Given the description of an element on the screen output the (x, y) to click on. 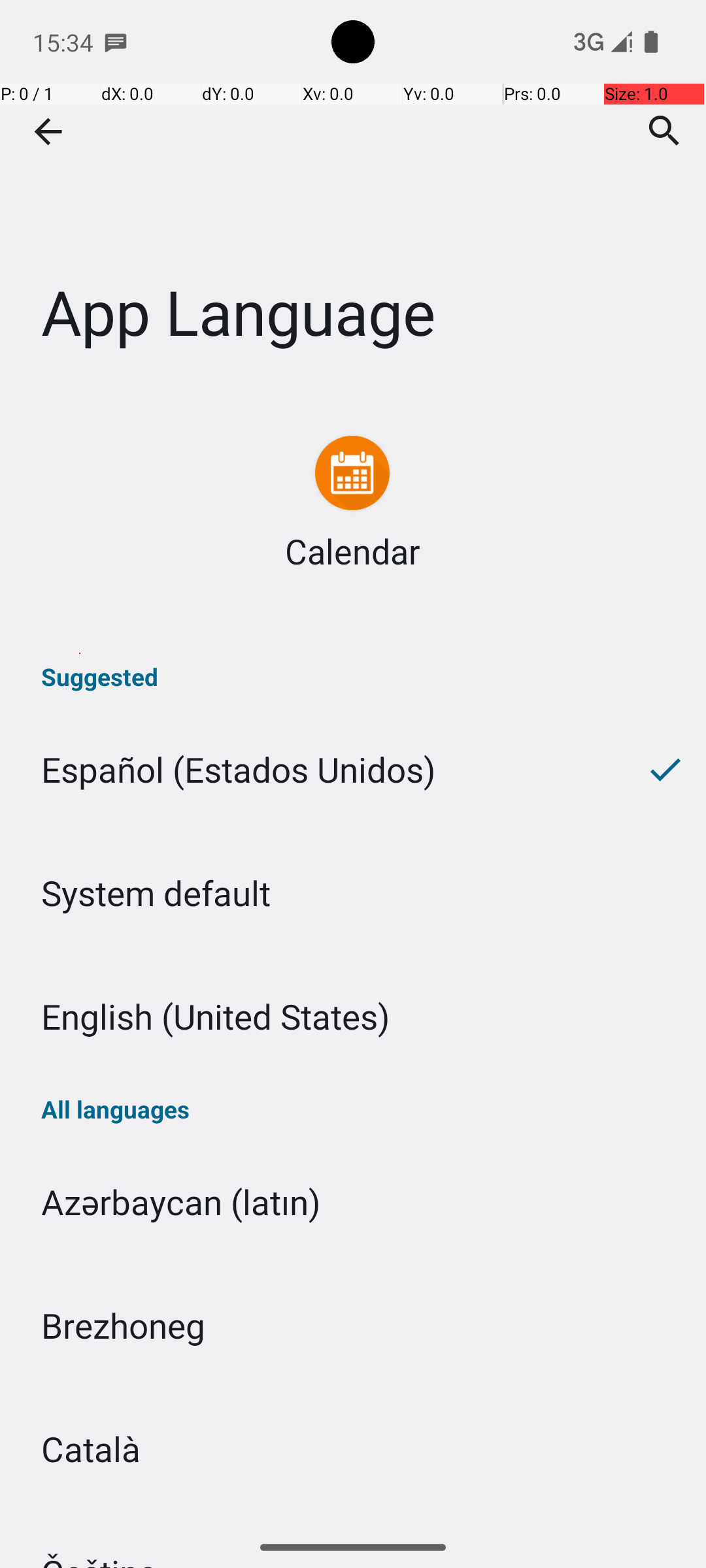
App Language Element type: android.widget.FrameLayout (353, 195)
Suggested Element type: android.widget.TextView (353, 676)
System default Element type: android.widget.TextView (353, 892)
English (United States) Element type: android.widget.TextView (353, 1016)
All languages Element type: android.widget.TextView (353, 1109)
Azərbaycan (latın) Element type: android.widget.TextView (353, 1201)
Brezhoneg Element type: android.widget.TextView (353, 1325)
Català Element type: android.widget.TextView (353, 1448)
Čeština Element type: android.widget.TextView (353, 1518)
Español (Estados Unidos) Element type: android.widget.TextView (312, 769)
